Given the description of an element on the screen output the (x, y) to click on. 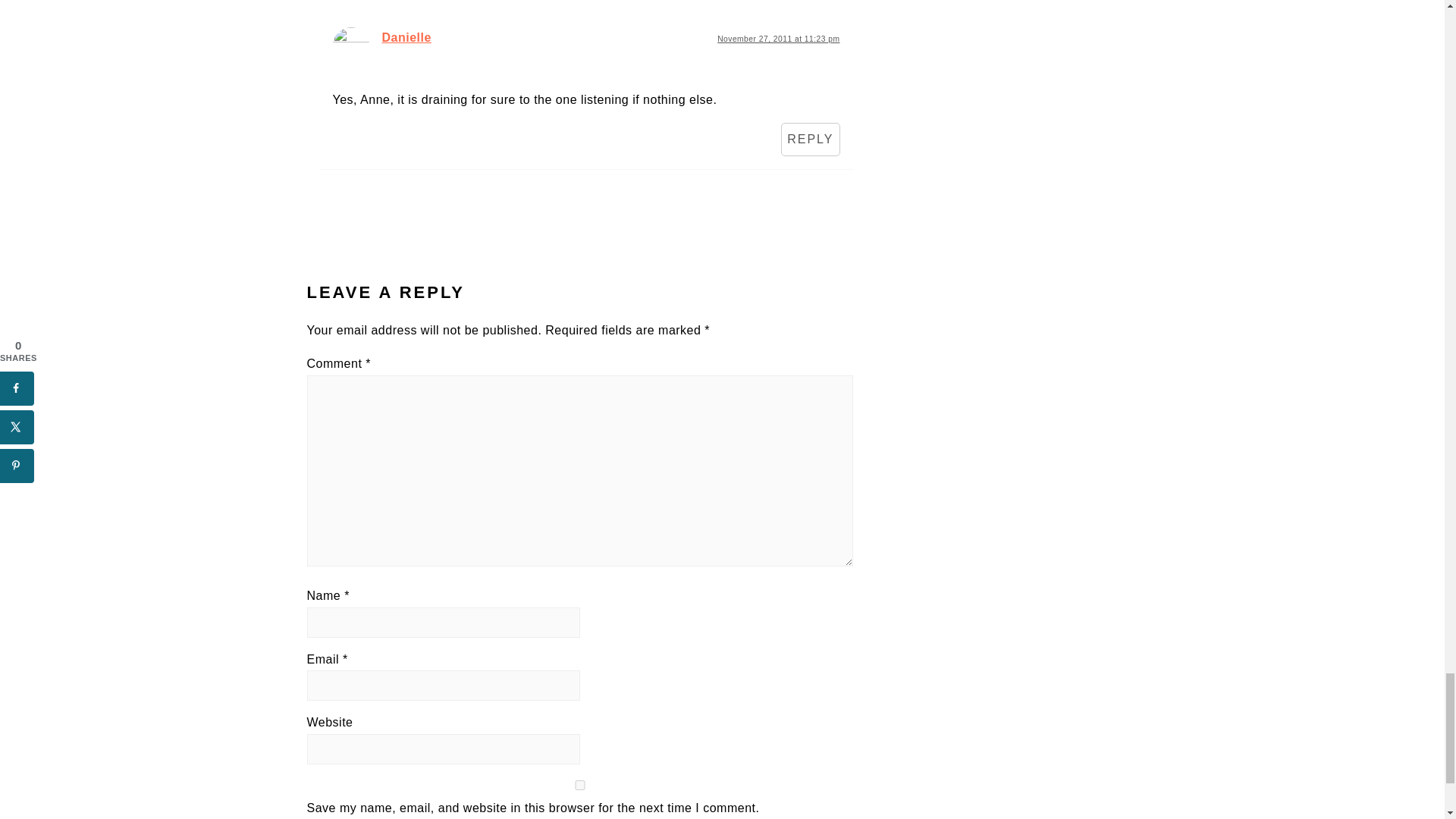
yes (578, 785)
